Given the description of an element on the screen output the (x, y) to click on. 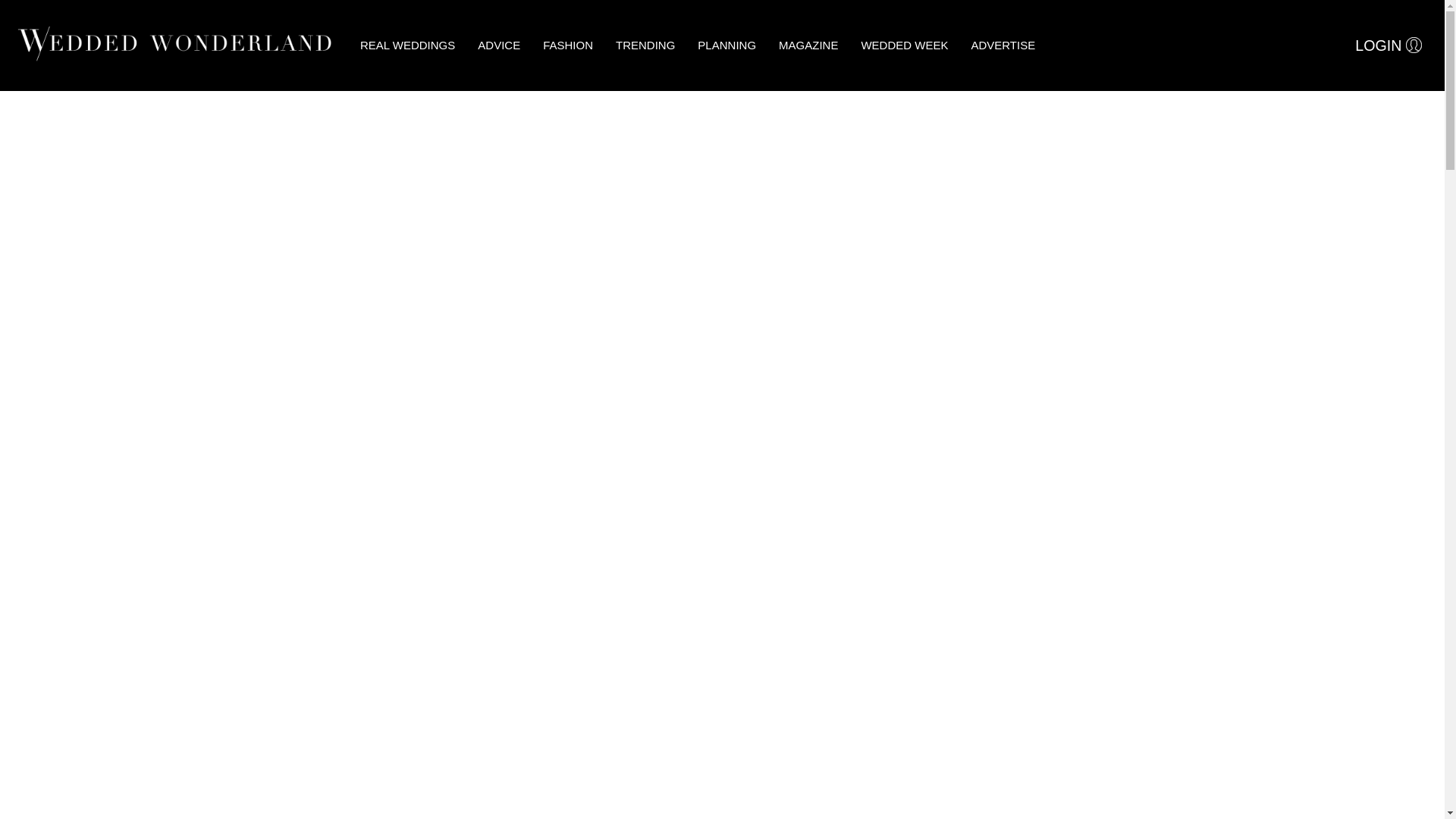
ADVERTISE (1002, 45)
MAGAZINE (807, 45)
LOGIN (1387, 45)
PLANNING (726, 45)
REAL WEDDINGS (407, 45)
WEDDED WEEK (903, 45)
TRENDING (644, 45)
